Given the description of an element on the screen output the (x, y) to click on. 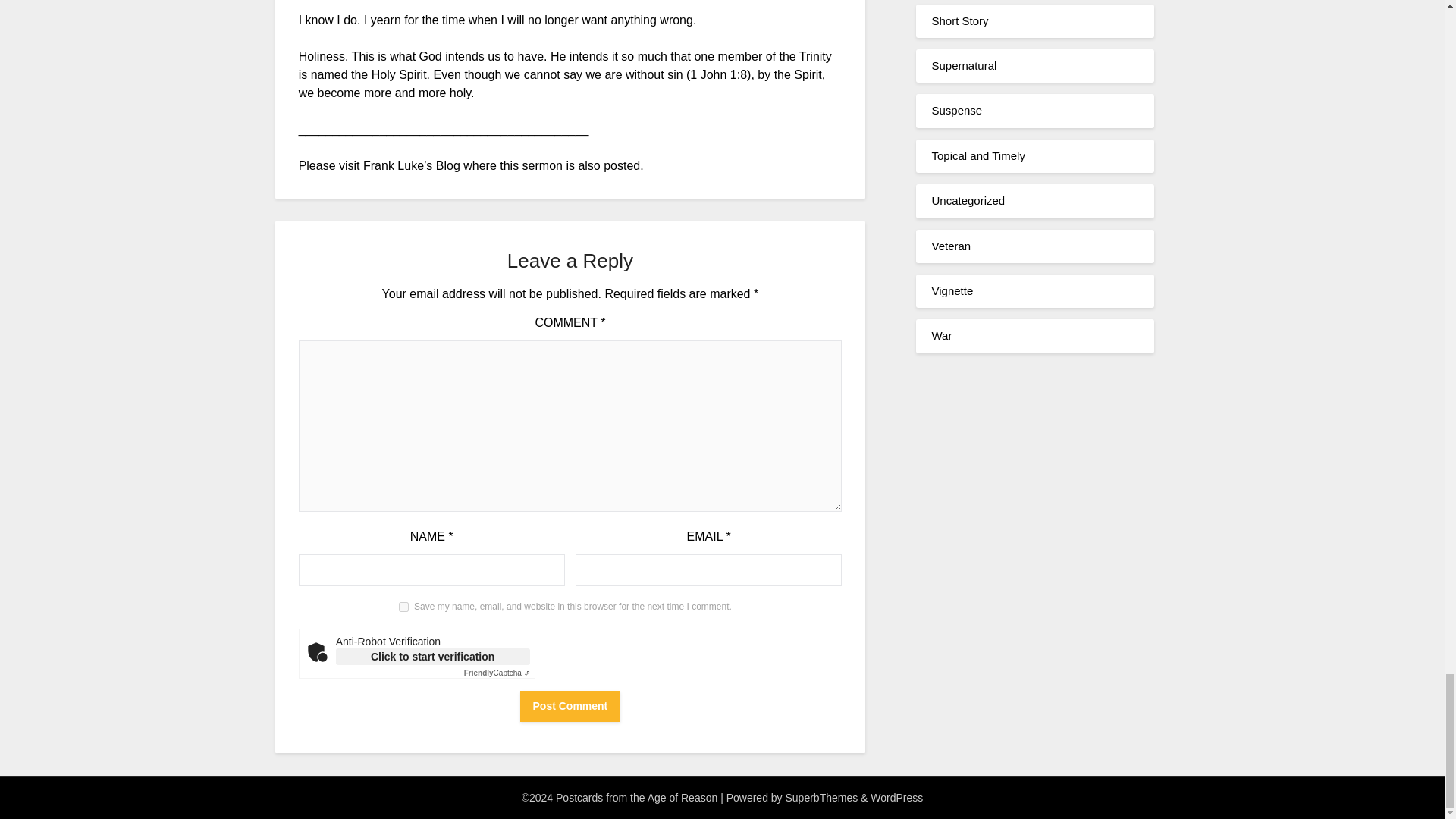
Click to start verification (432, 656)
Post Comment (570, 706)
Post Comment (570, 706)
yes (403, 606)
